Given the description of an element on the screen output the (x, y) to click on. 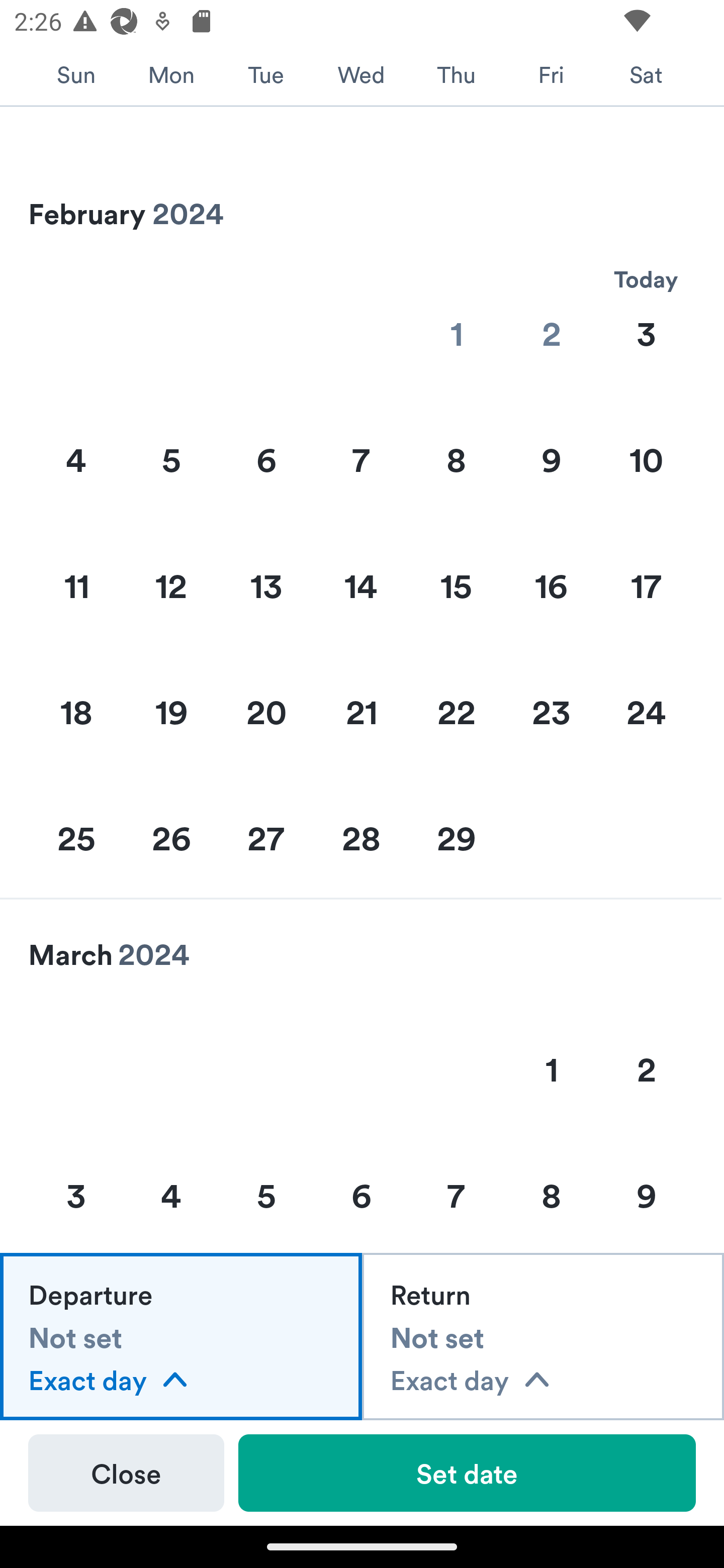
Close (126, 1472)
Set date (466, 1472)
